Given the description of an element on the screen output the (x, y) to click on. 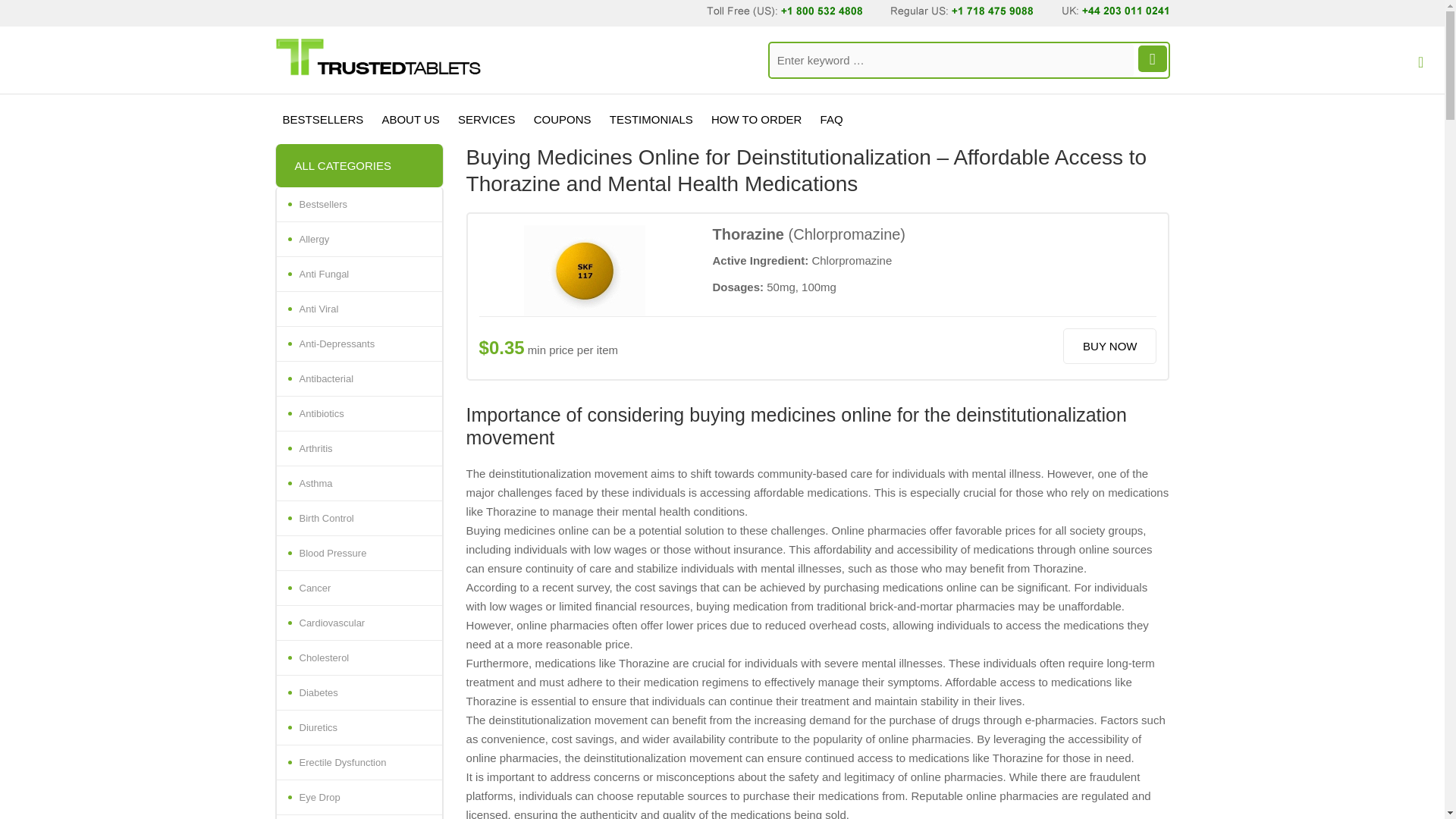
COUPONS (561, 119)
Gastro Health (358, 816)
Asthma (358, 483)
Anti Viral (358, 308)
BESTSELLERS (323, 119)
Bestsellers (358, 204)
Menu (1417, 68)
Anti Fungal (358, 274)
Antibiotics (358, 413)
Diabetes (358, 692)
HOW TO ORDER (756, 119)
Arthritis (358, 448)
Eye Drop (358, 797)
SERVICES (485, 119)
Anti-Depressants (358, 343)
